Given the description of an element on the screen output the (x, y) to click on. 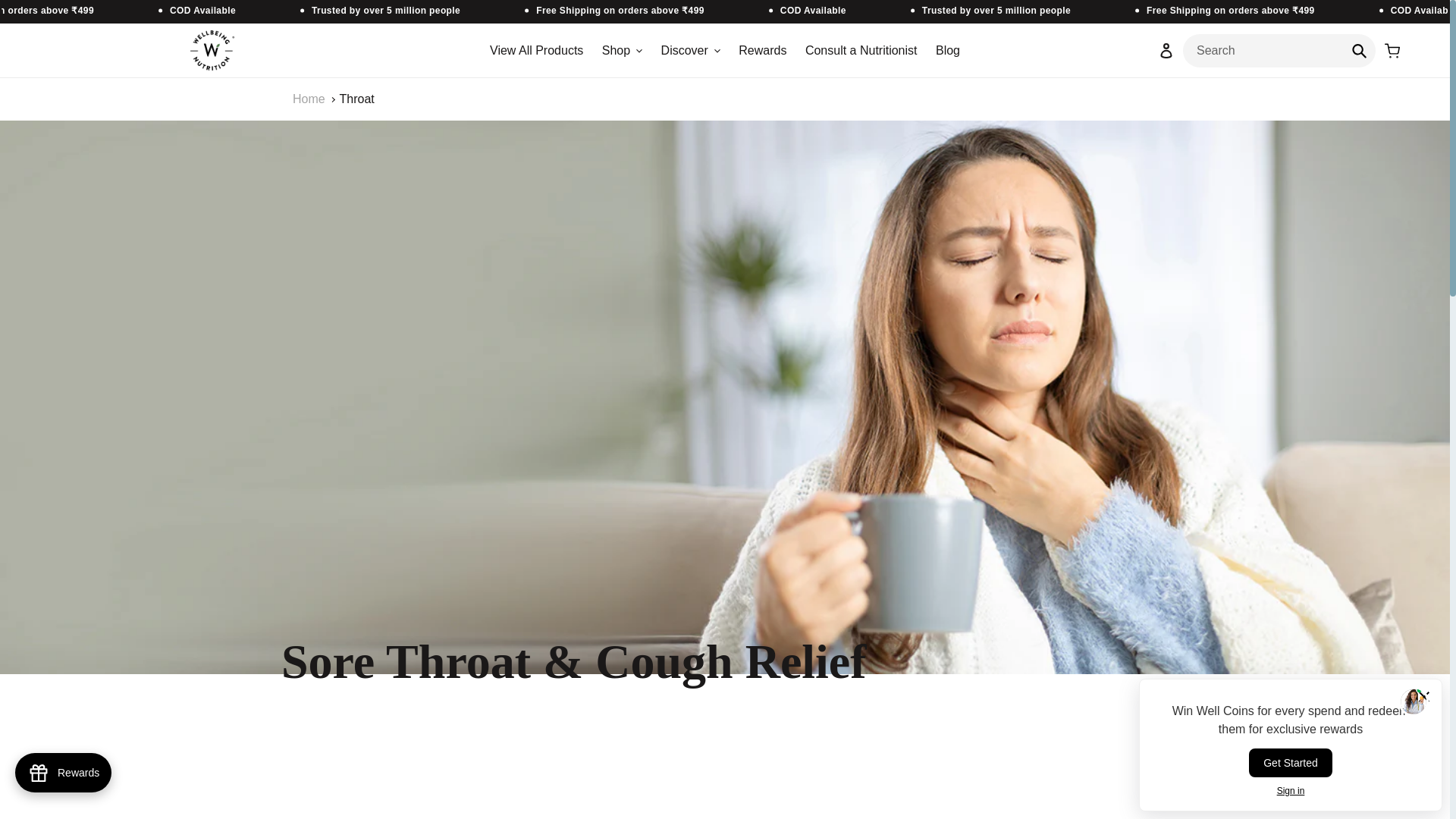
Rewards (63, 772)
View All Products (536, 50)
Discover (690, 50)
Shop (621, 50)
